Given the description of an element on the screen output the (x, y) to click on. 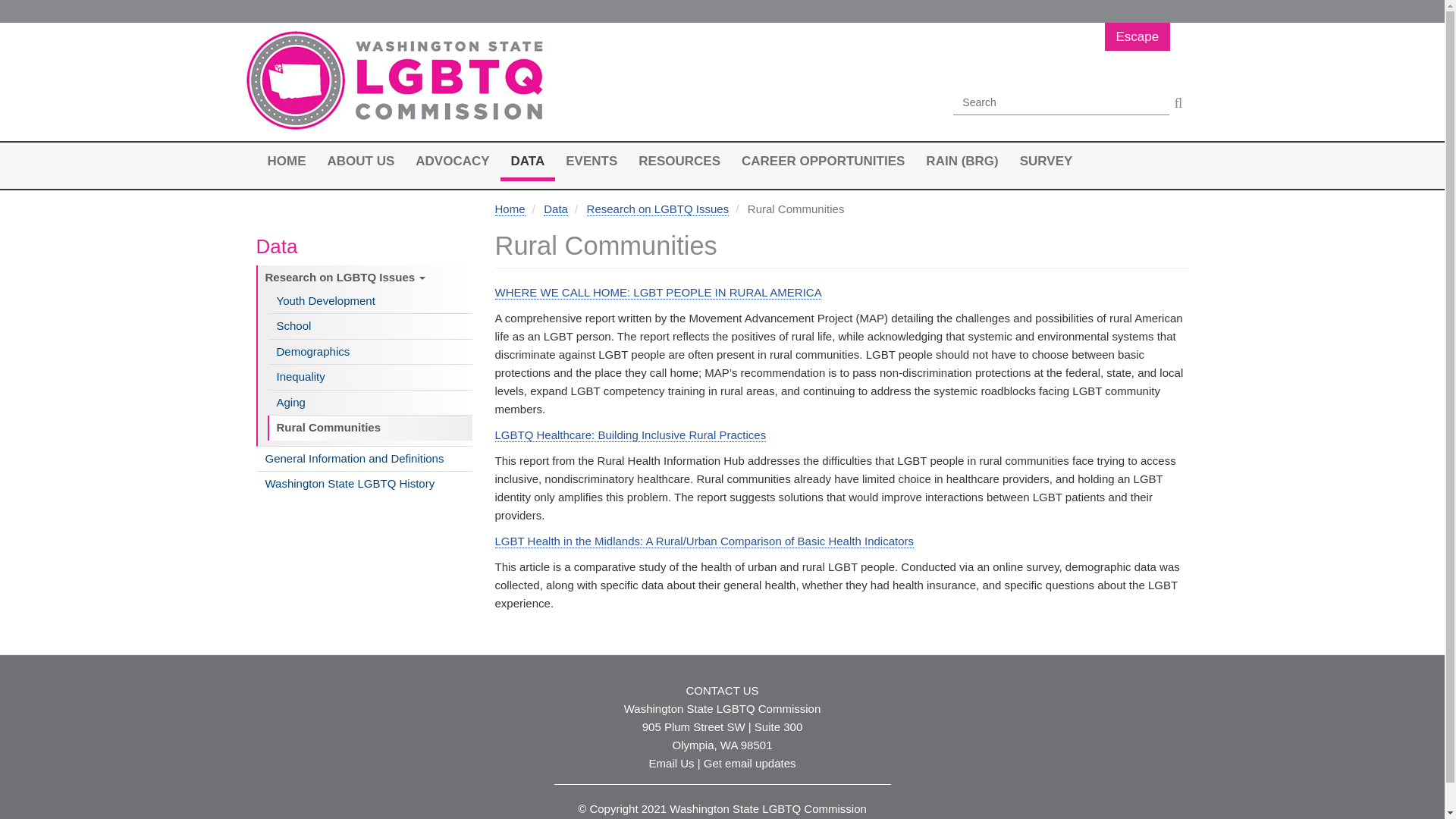
ADVOCACY (451, 161)
DATA (528, 161)
HOME (285, 161)
ABOUT US (361, 161)
Home (395, 82)
Escape (1136, 36)
